Given the description of an element on the screen output the (x, y) to click on. 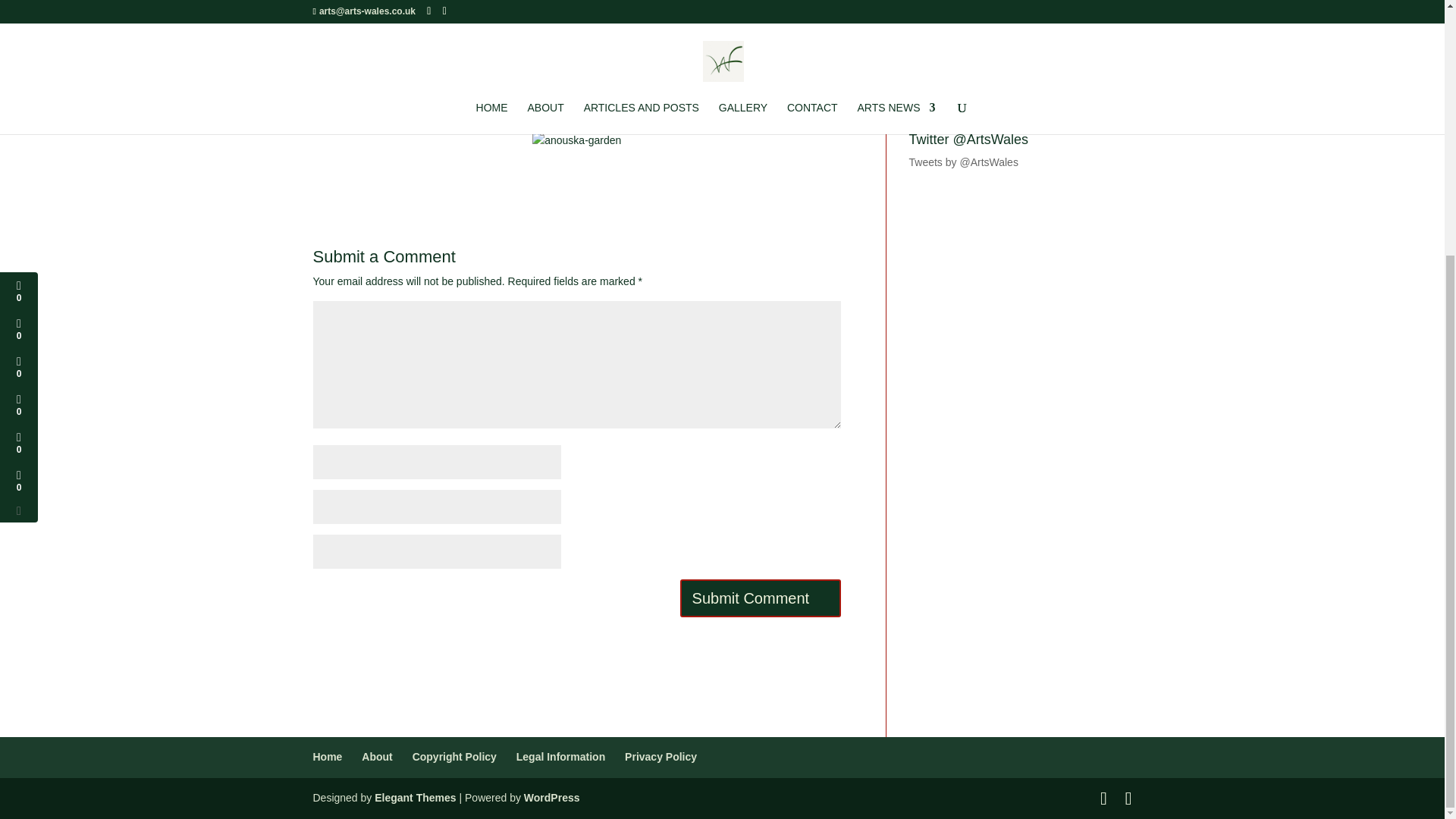
Copyright Policy (454, 756)
Home (327, 756)
anouska-garden (576, 140)
Premium WordPress Themes (414, 797)
About (376, 756)
Submit Comment (760, 598)
Submit Comment (760, 598)
Legal Information (560, 756)
